Given the description of an element on the screen output the (x, y) to click on. 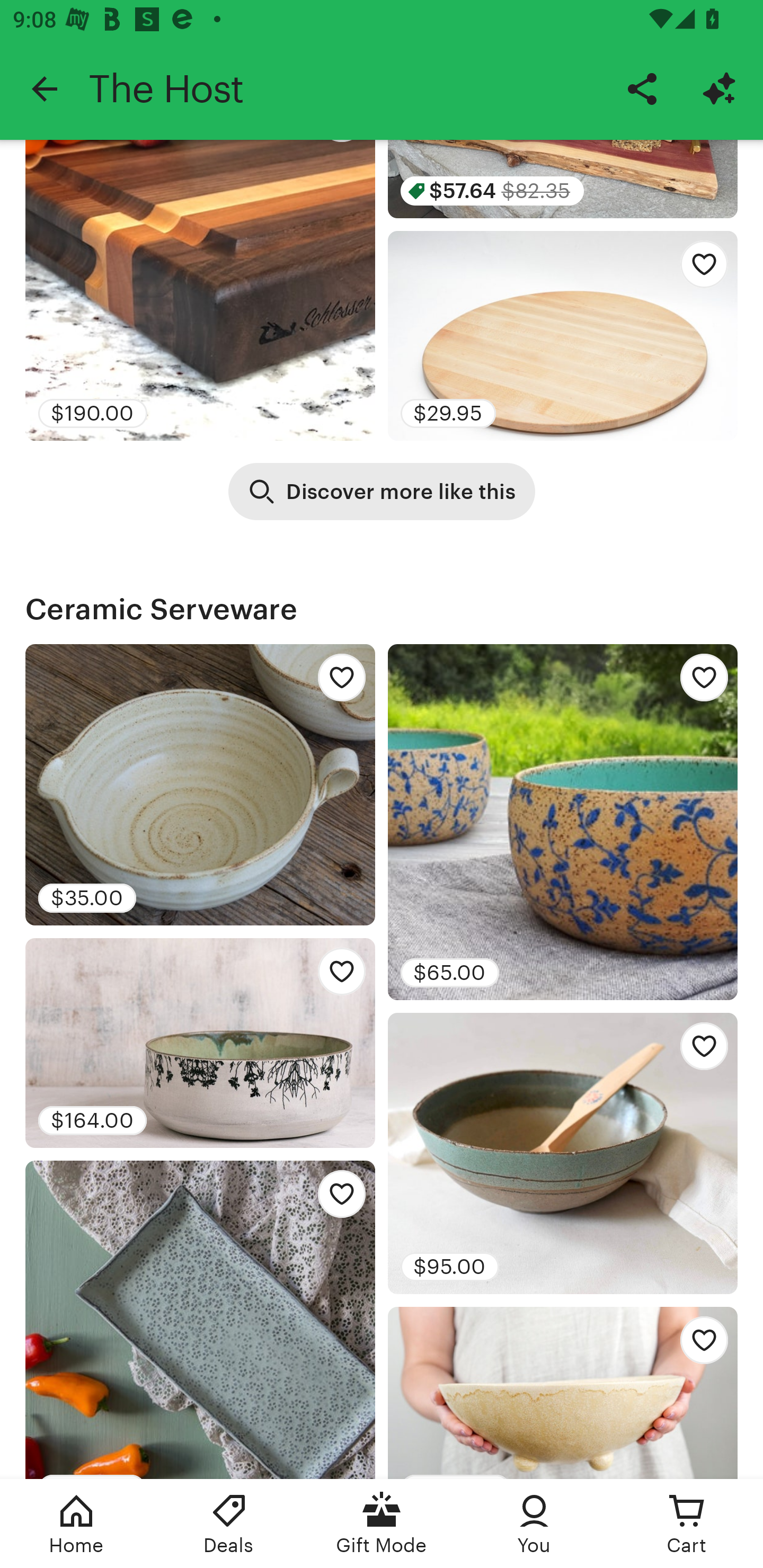
Back (44, 88)
$190.00 (200, 289)
Sale price: $57.64 $57.64 $82.35 (562, 178)
$29.95 (562, 335)
Discover more like this (381, 491)
$35.00 (200, 784)
$65.00 (562, 822)
$164.00 (200, 1042)
$95.00 (562, 1152)
$120.00 (200, 1319)
$294.49 (562, 1392)
Home (76, 1523)
Deals (228, 1523)
You (533, 1523)
Cart (686, 1523)
